Given the description of an element on the screen output the (x, y) to click on. 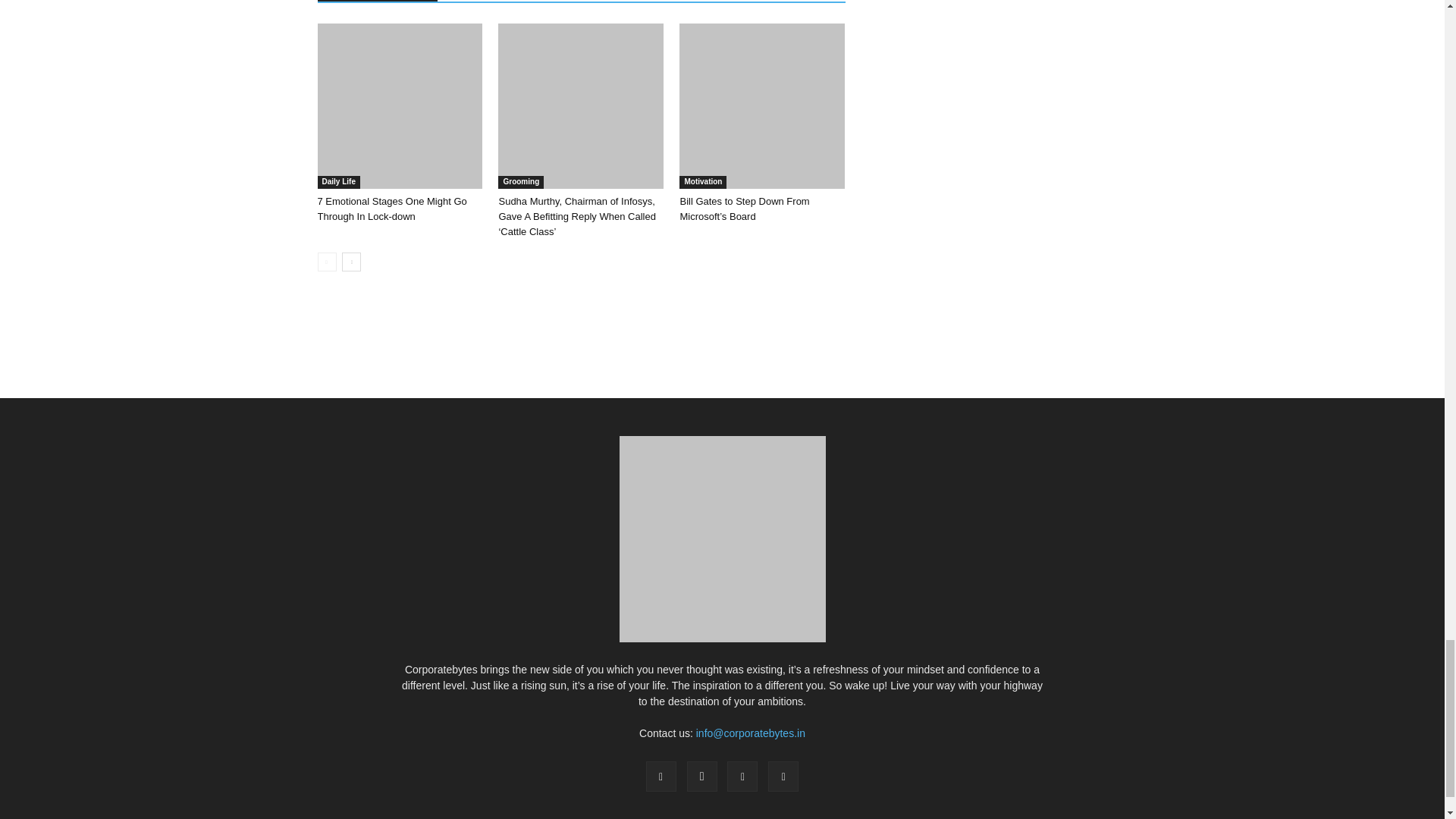
7 Emotional Stages One Might Go Through In Lock-down (399, 106)
